Given the description of an element on the screen output the (x, y) to click on. 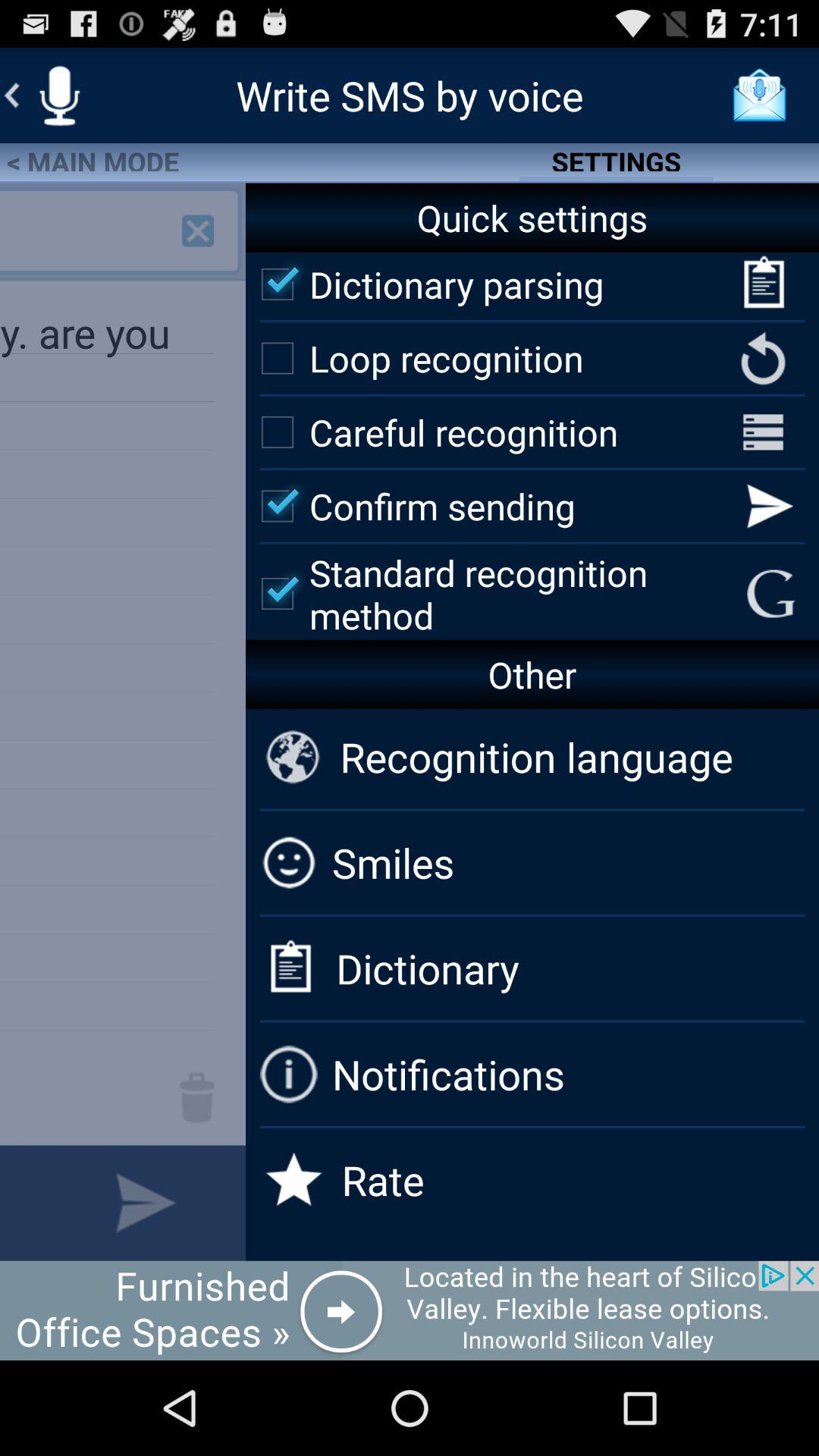
go to add (197, 230)
